Given the description of an element on the screen output the (x, y) to click on. 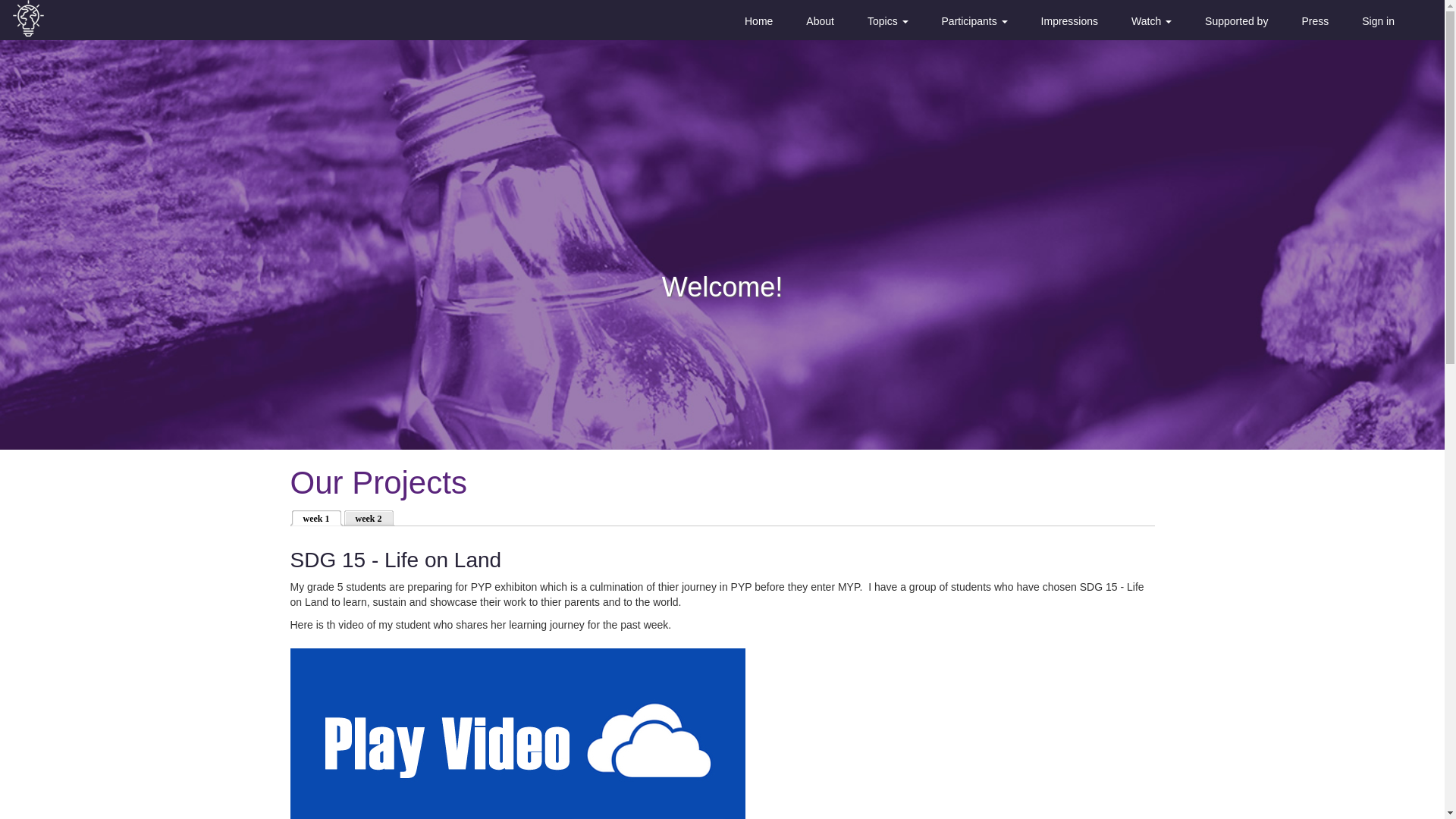
Participants (974, 21)
Press (1314, 21)
Watch (1150, 21)
Impressions (1069, 21)
Supported by (1236, 21)
Sign in (1378, 21)
Home (758, 21)
Topics (888, 21)
week 2 (370, 516)
About (819, 21)
